Given the description of an element on the screen output the (x, y) to click on. 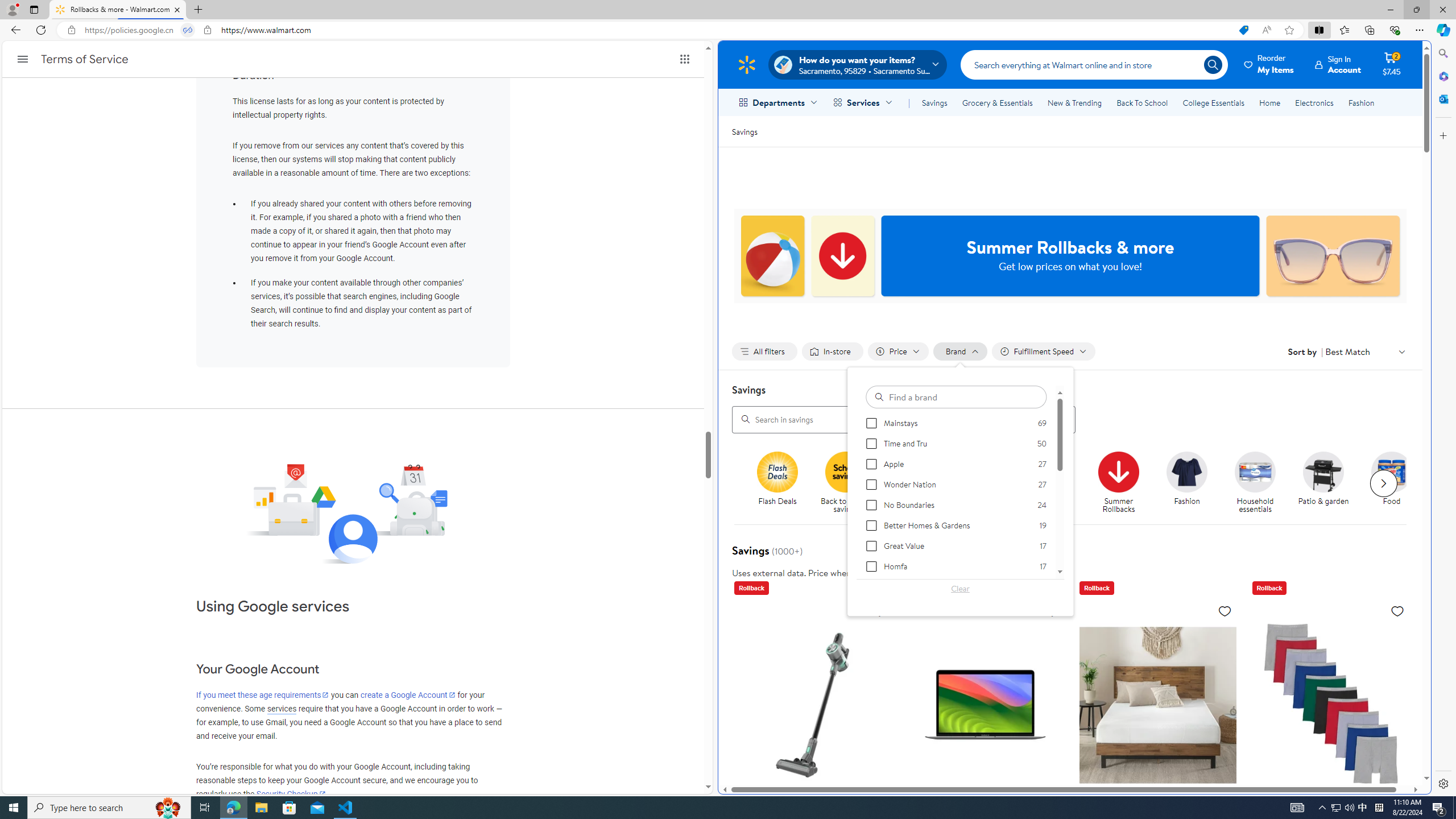
Patio & garden (1323, 471)
Tabs in split screen (187, 29)
College Essentials (1213, 102)
$20 & under (986, 483)
Fashion (1186, 471)
Back To School (1141, 102)
